Given the description of an element on the screen output the (x, y) to click on. 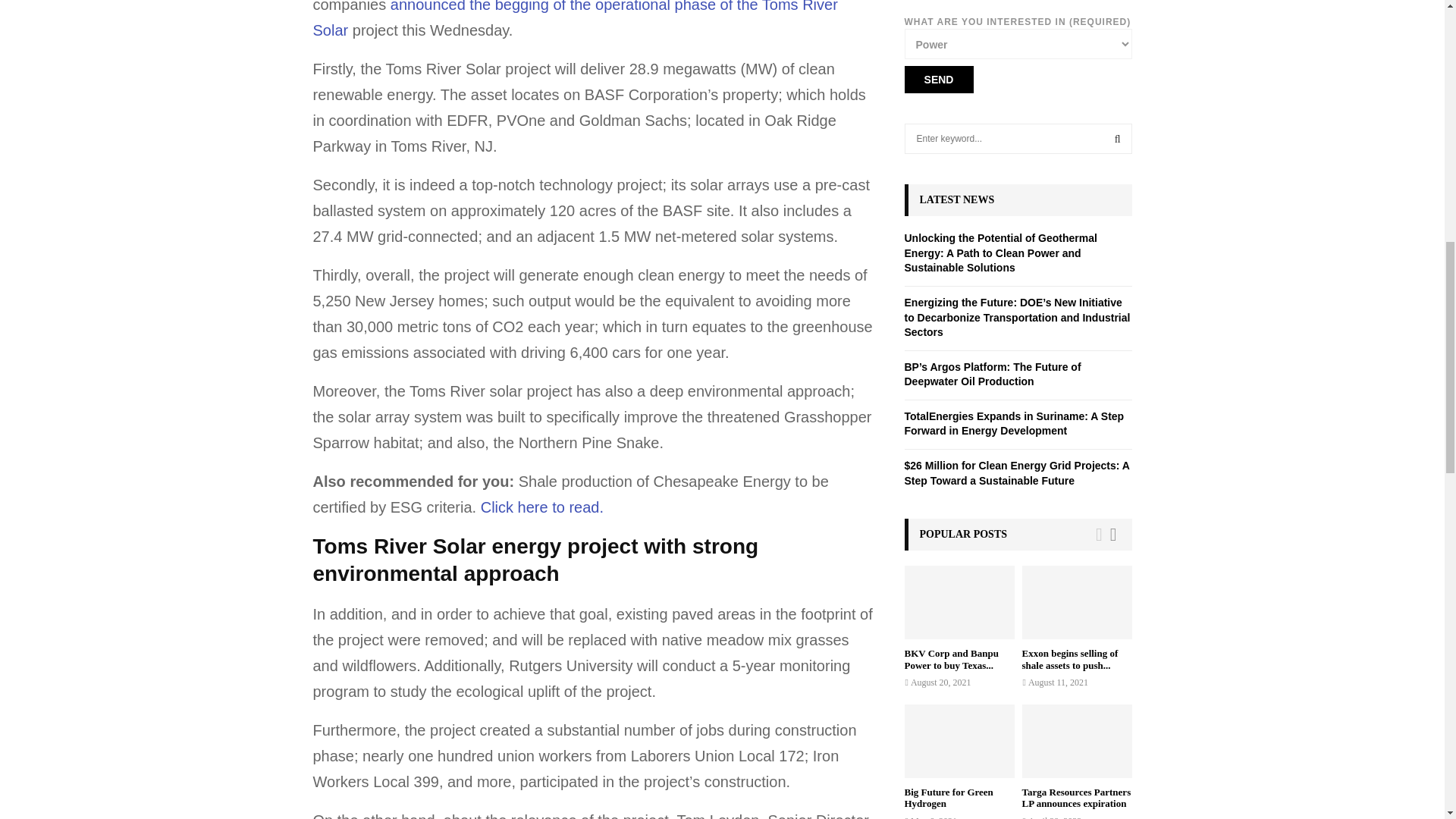
Send (938, 79)
